Given the description of an element on the screen output the (x, y) to click on. 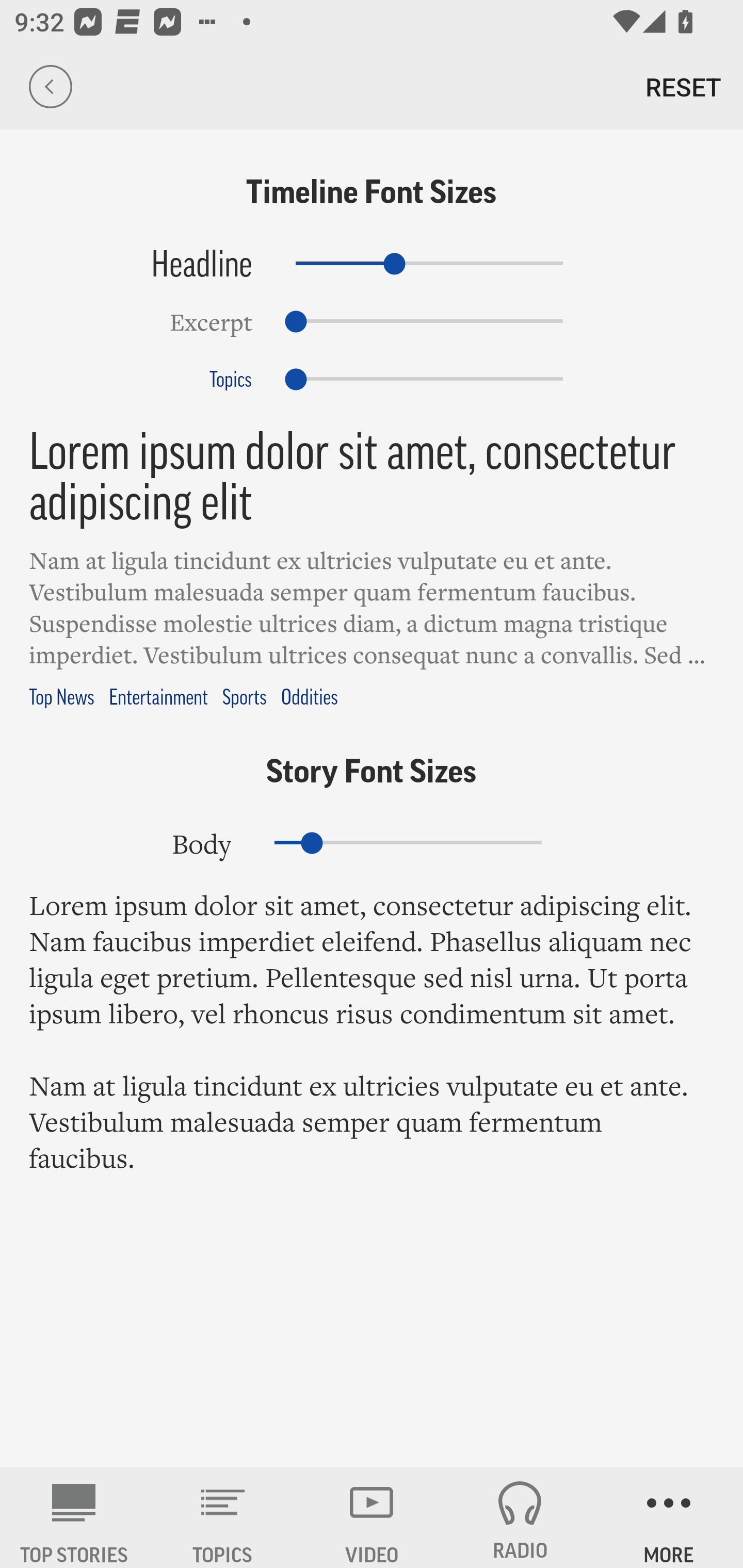
RESET (683, 86)
AP News TOP STORIES (74, 1517)
TOPICS (222, 1517)
VIDEO (371, 1517)
RADIO (519, 1517)
MORE (668, 1517)
